Given the description of an element on the screen output the (x, y) to click on. 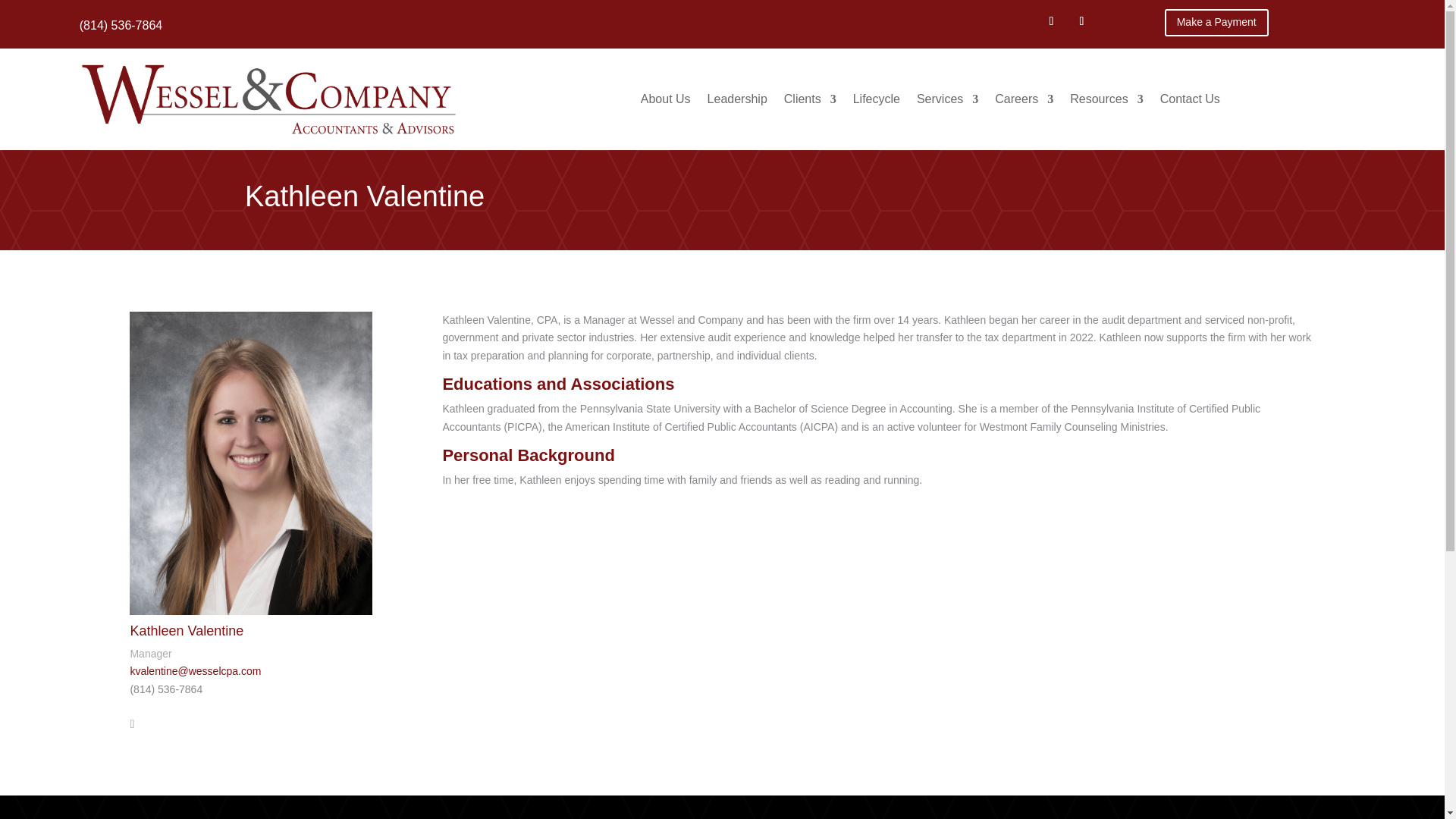
Follow on Facebook (1050, 21)
Follow on LinkedIn (1080, 21)
Make a Payment (1216, 22)
